Given the description of an element on the screen output the (x, y) to click on. 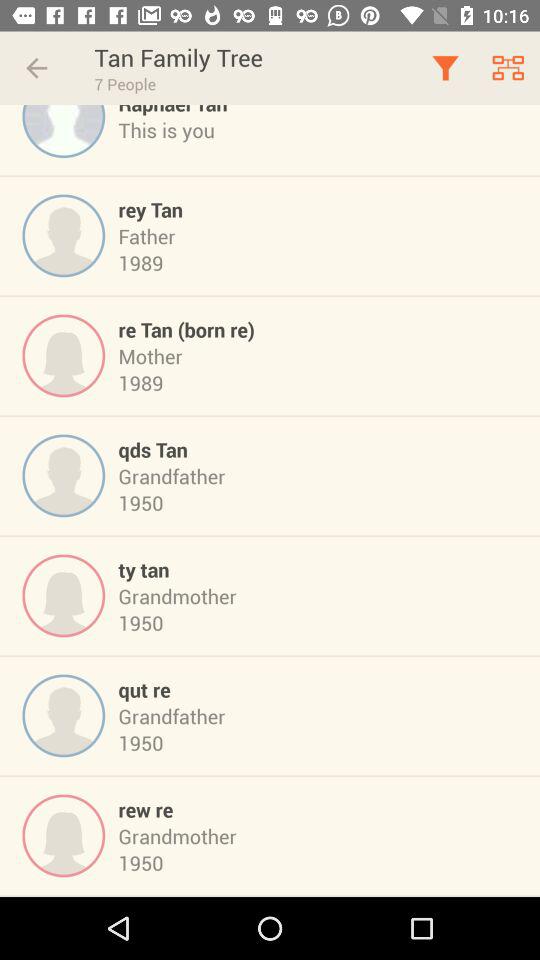
click item to the left of tan family tree item (36, 68)
